Given the description of an element on the screen output the (x, y) to click on. 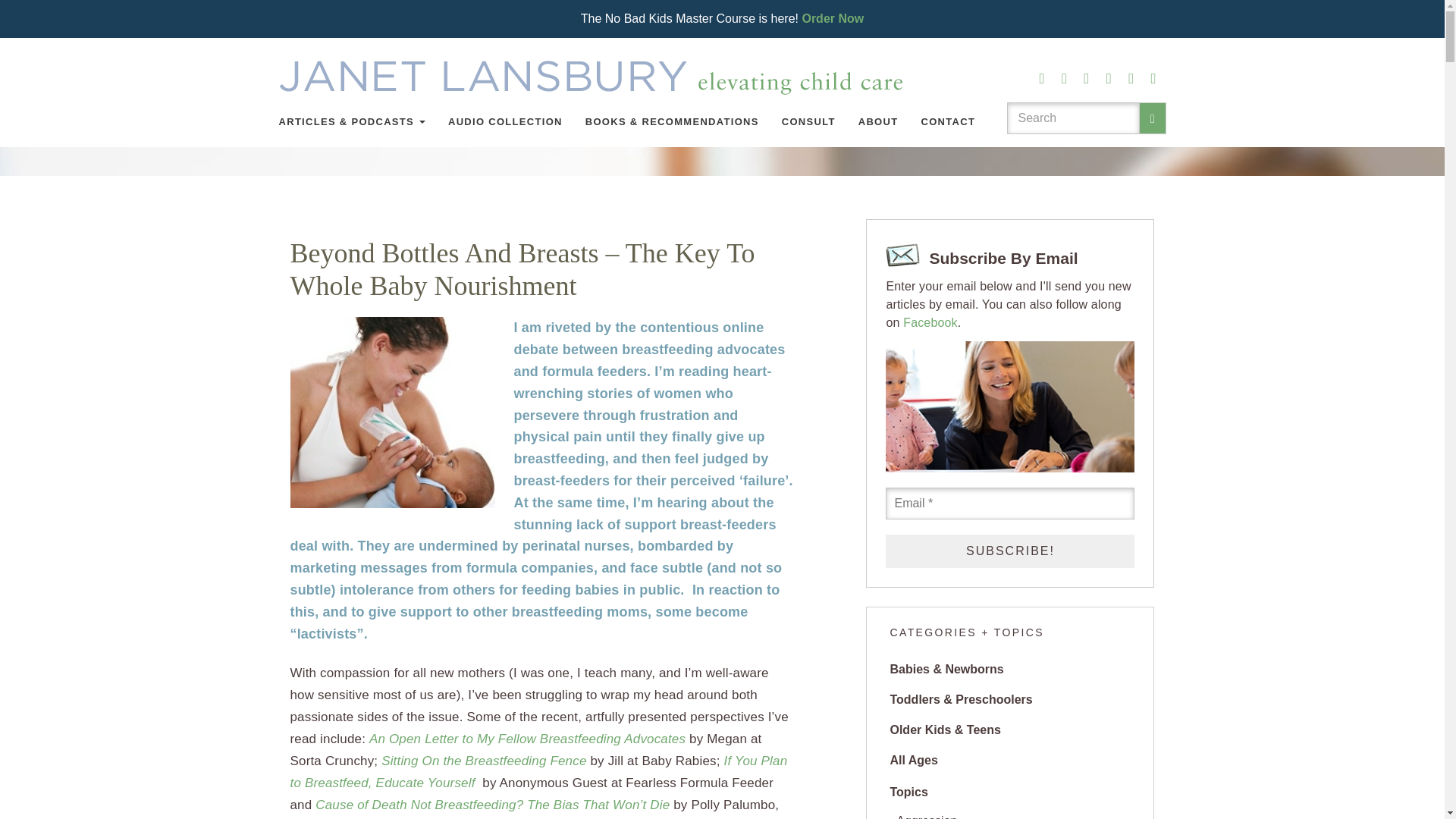
CONTACT (947, 121)
If You Plan to Breastfeed, Educate Yourself  (538, 771)
Contact (947, 121)
Audio Collection (504, 121)
CONSULT (808, 121)
An Open Letter to My Fellow Breastfeeding Advocates (528, 739)
Subscribe! (1009, 551)
ABOUT (878, 121)
About (878, 121)
Consult (808, 121)
